Given the description of an element on the screen output the (x, y) to click on. 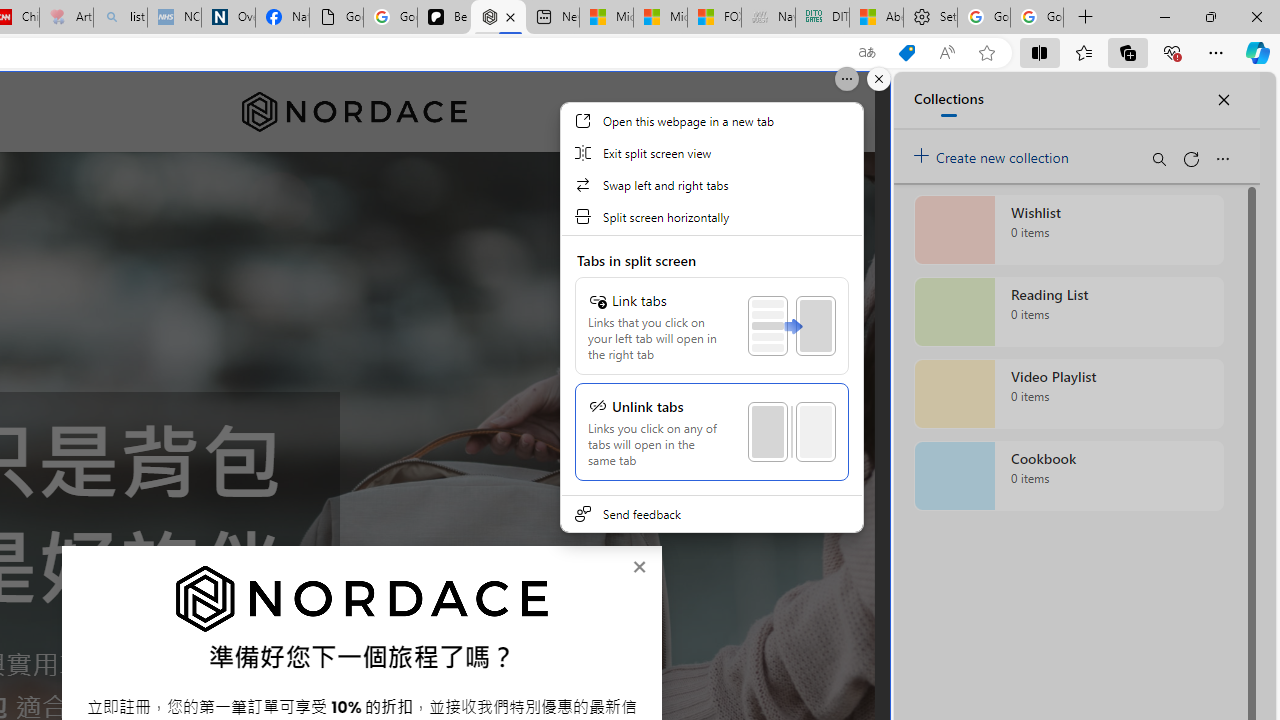
Arthritis: Ask Health Professionals - Sleeping (66, 17)
Class: SubmenuView (711, 317)
